Given the description of an element on the screen output the (x, y) to click on. 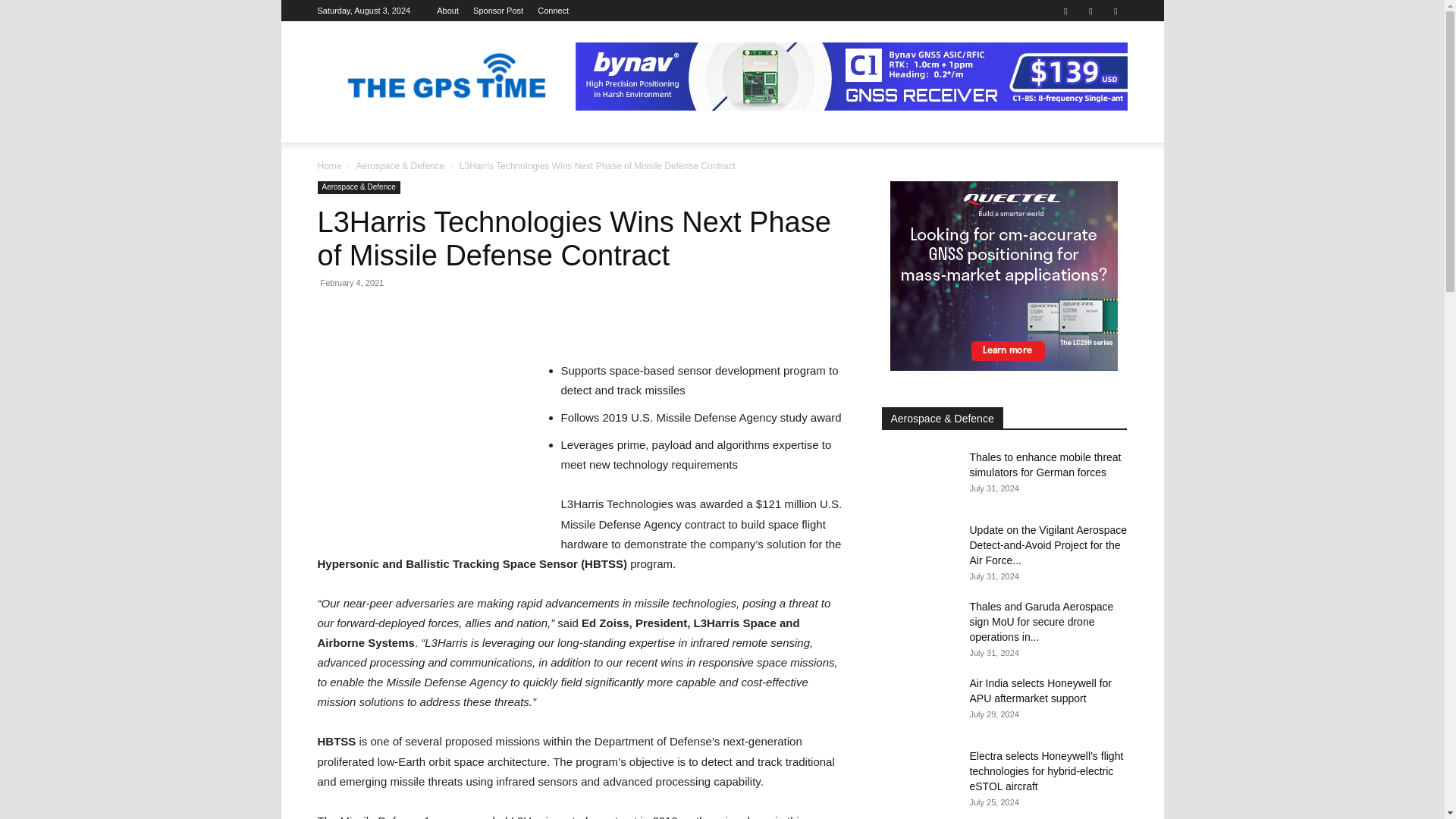
Linkedin (1090, 10)
About (447, 10)
Connect (553, 10)
Facebook (1065, 10)
Sponsor Post (497, 10)
Twitter (1114, 10)
HOME (341, 129)
